Given the description of an element on the screen output the (x, y) to click on. 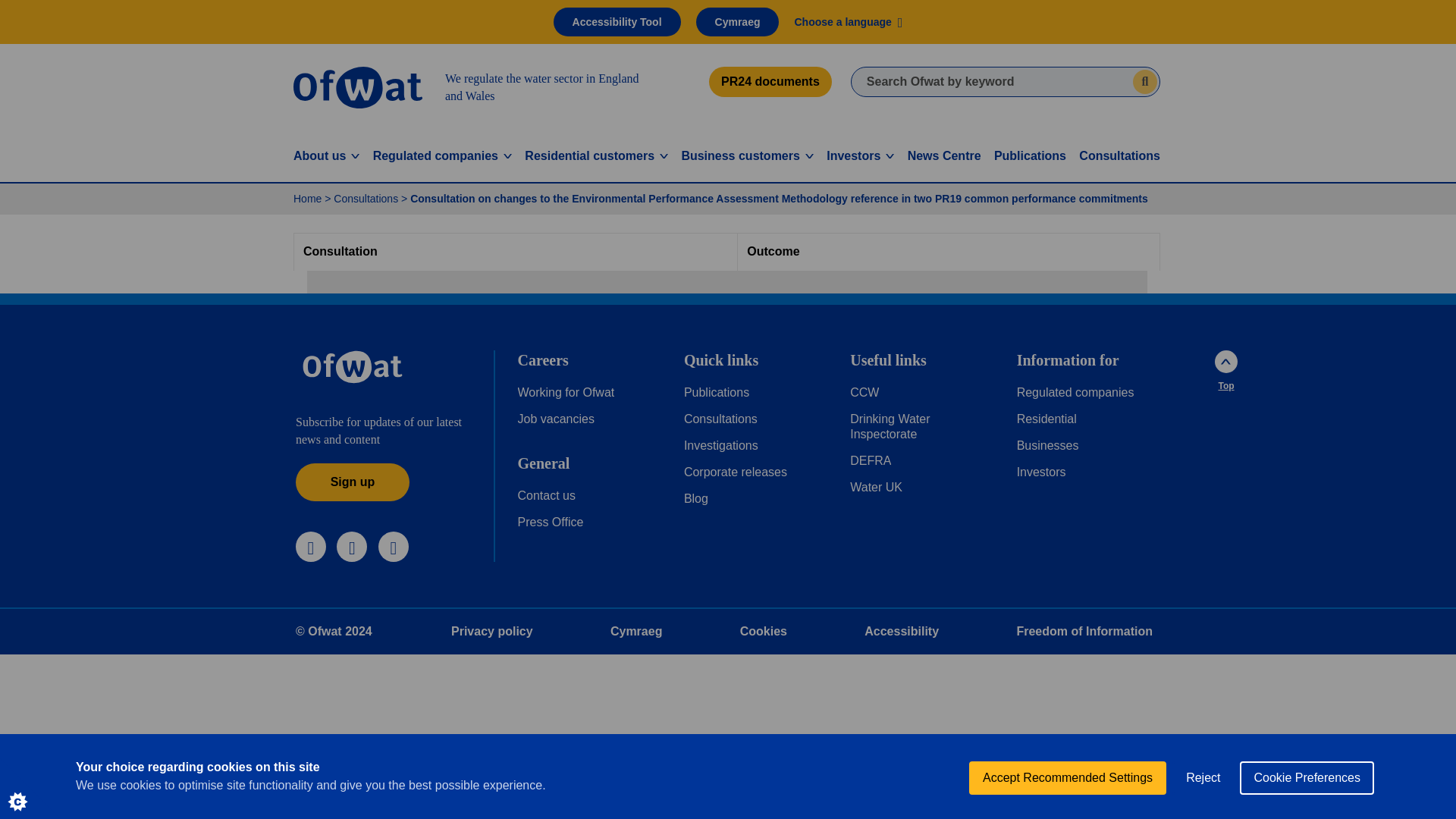
Ofwat (352, 367)
About us (326, 156)
search (1144, 81)
Accessibility Tool (617, 21)
Regulated companies (442, 156)
Ofwat (358, 87)
PR24 documents (770, 81)
Cymraeg (736, 21)
